Given the description of an element on the screen output the (x, y) to click on. 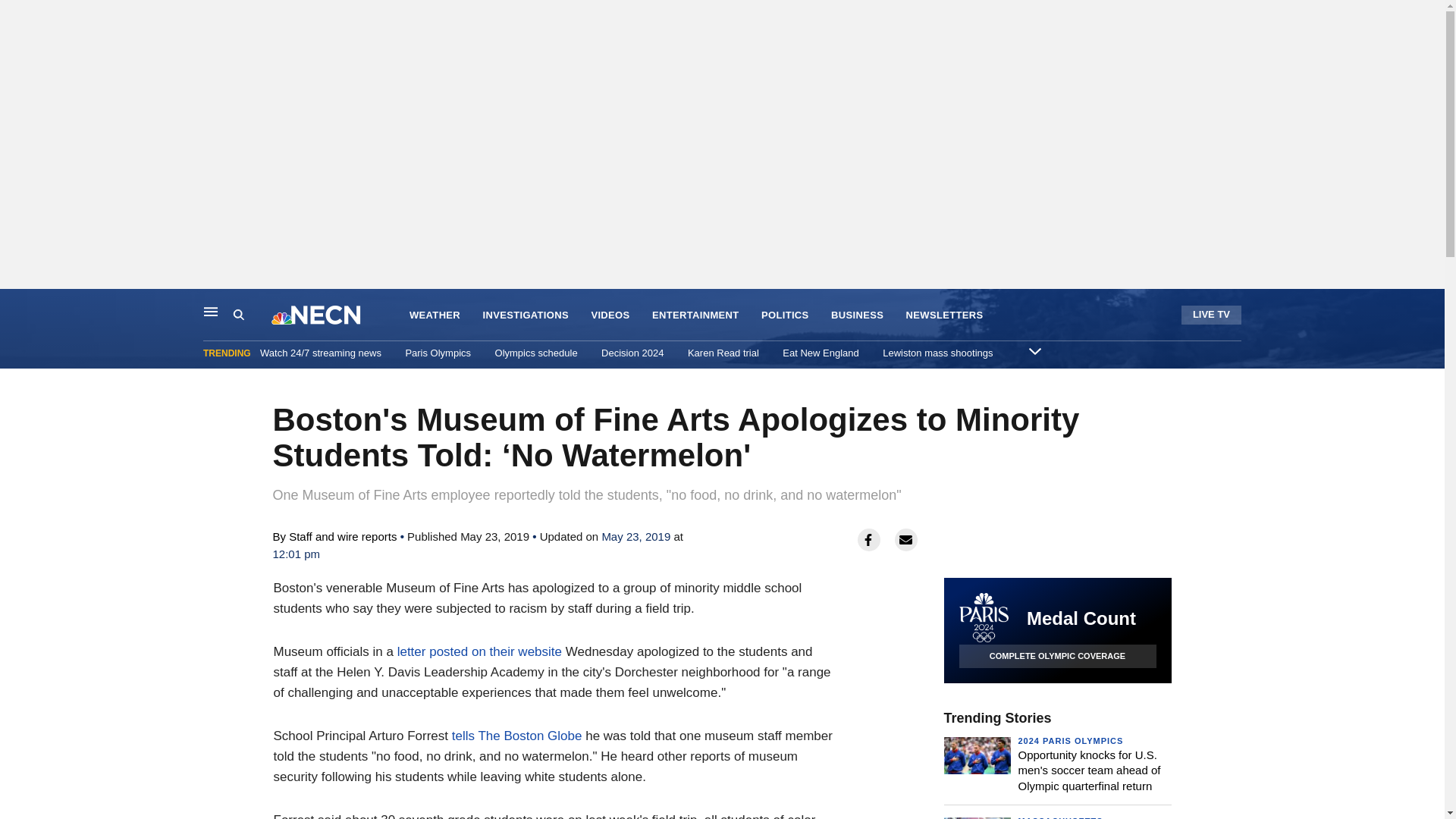
Search (252, 314)
COMPLETE OLYMPIC COVERAGE (1057, 656)
Karen Read trial (722, 352)
NEWSLETTERS (944, 315)
Paris Olympics (437, 352)
Expand (1034, 350)
Lewiston mass shootings (937, 352)
Eat New England (821, 352)
MASSACHUSETTS (1059, 817)
ENTERTAINMENT (695, 315)
